Given the description of an element on the screen output the (x, y) to click on. 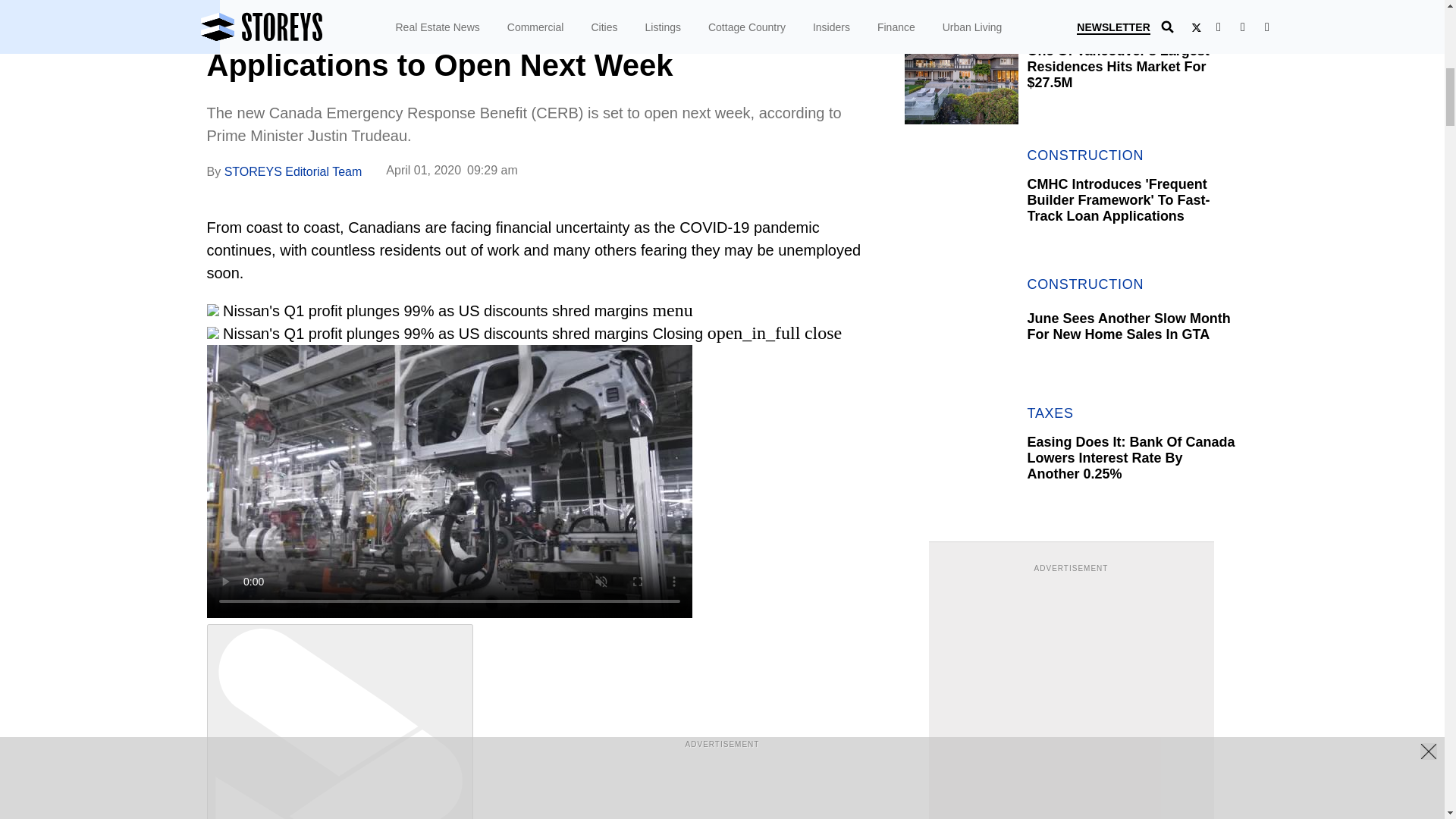
3rd party ad content (1070, 670)
